Given the description of an element on the screen output the (x, y) to click on. 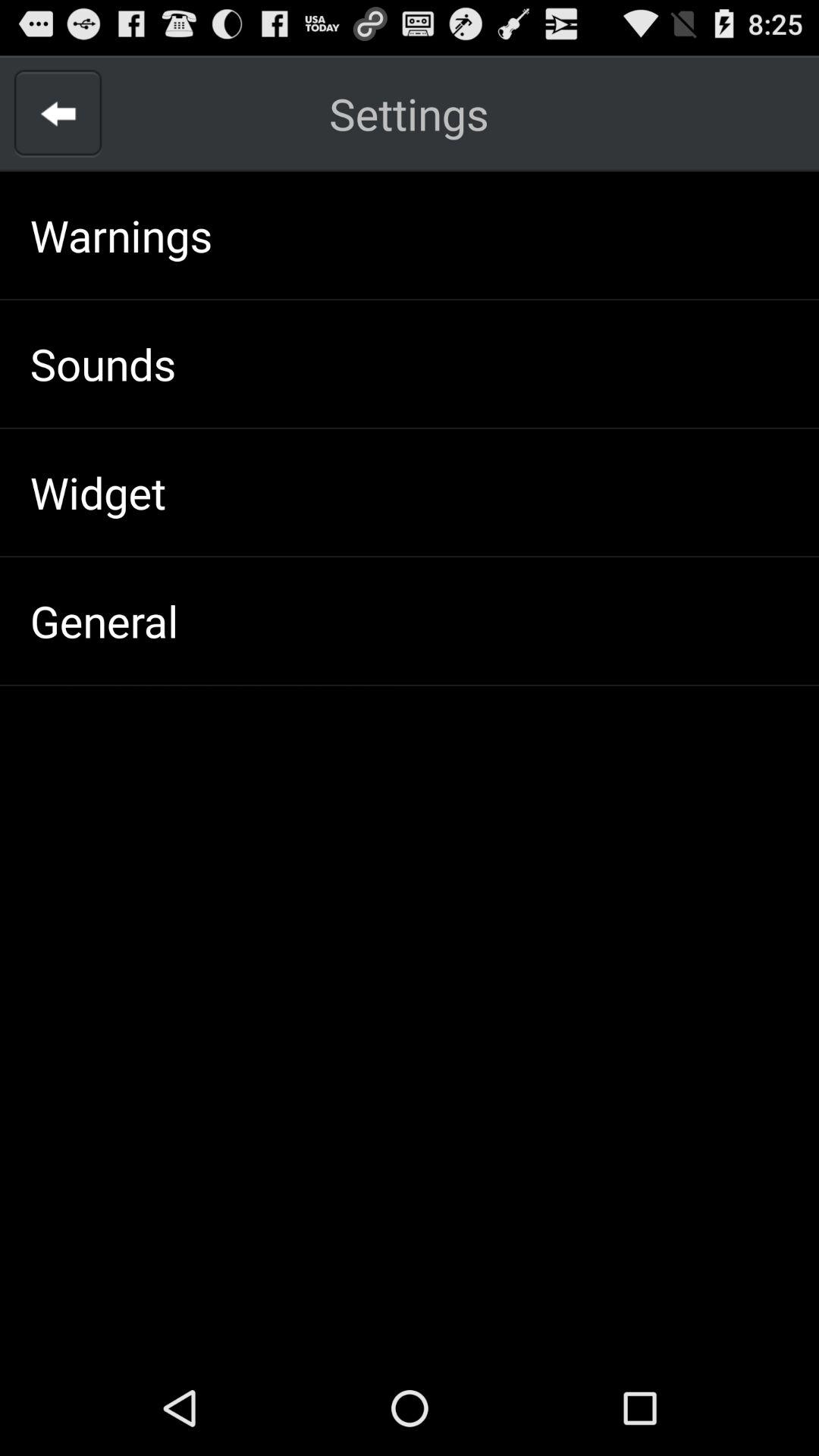
press the icon below widget (104, 620)
